Given the description of an element on the screen output the (x, y) to click on. 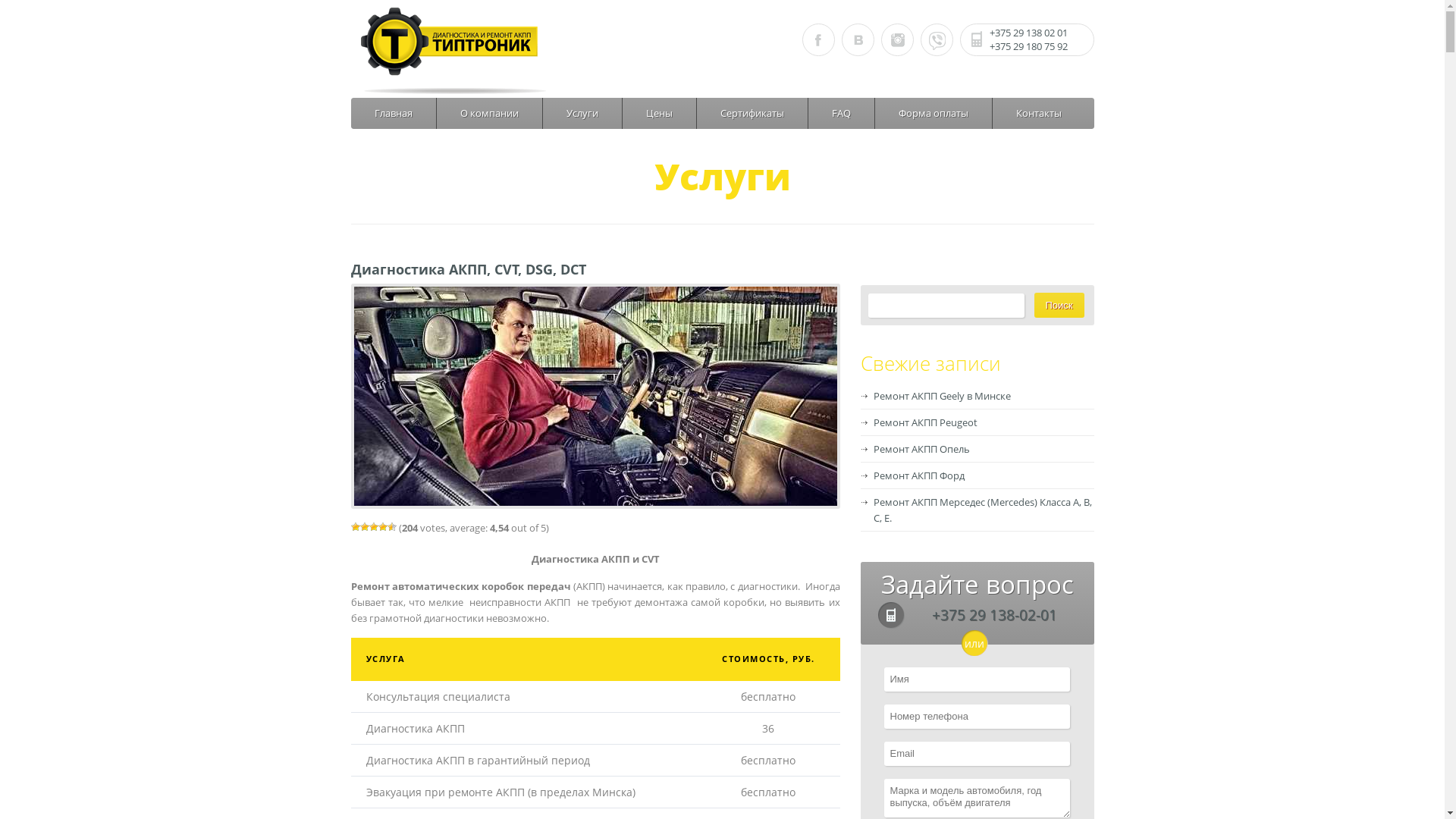
+375 29 138-02-01 Element type: text (993, 614)
4 Stars Element type: hover (381, 526)
5 Stars Element type: hover (390, 526)
1 Star Element type: hover (354, 526)
+375 29 180 75 92 Element type: text (1027, 46)
3 Stars Element type: hover (372, 526)
2 Stars Element type: hover (363, 526)
+375 29 138 02 01 Element type: text (1027, 32)
FAQ Element type: text (841, 112)
